Given the description of an element on the screen output the (x, y) to click on. 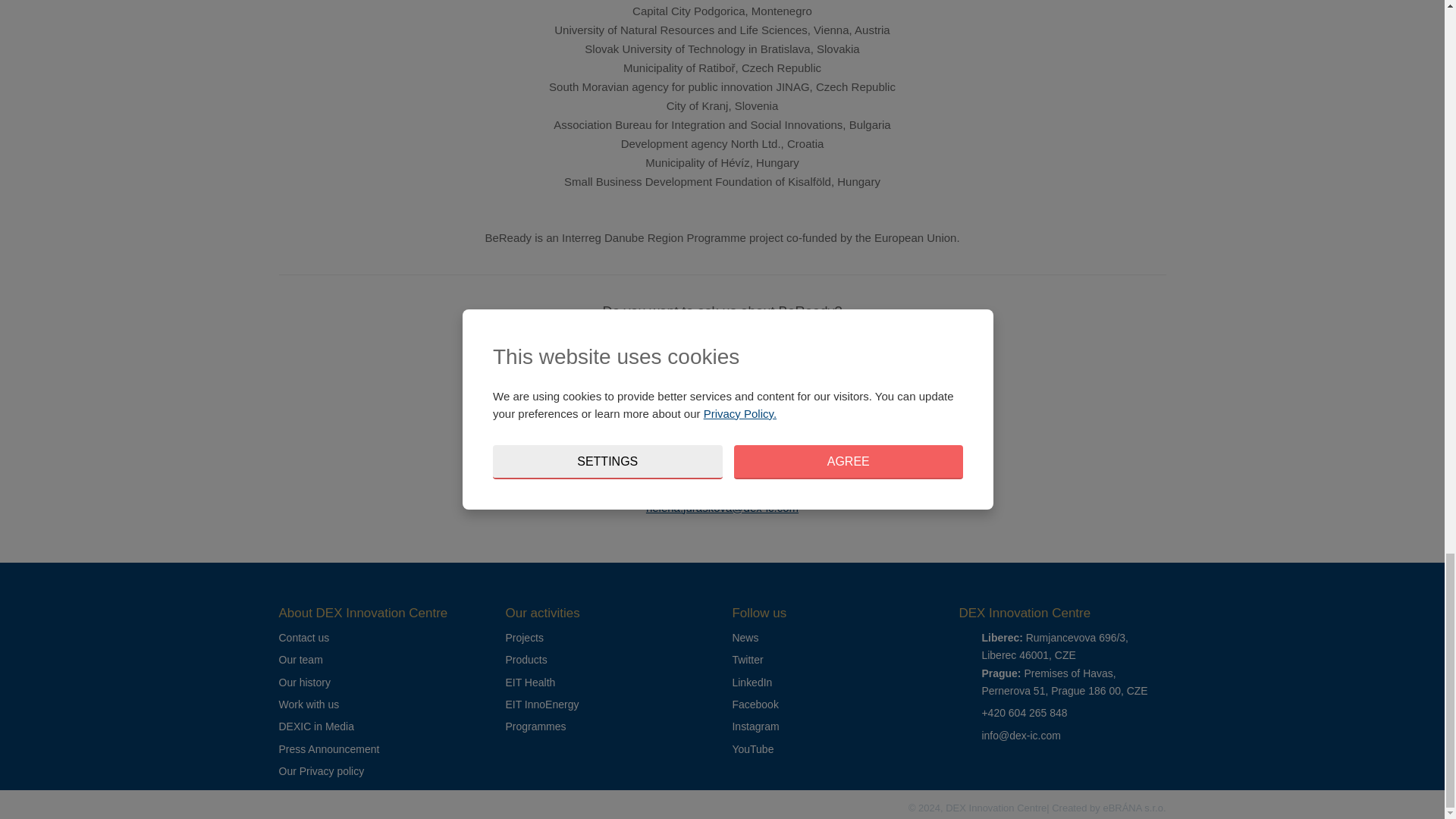
Twitter (747, 659)
DEXIC in Media (316, 726)
News (745, 637)
EIT Health (529, 682)
Press Announcement (329, 748)
EIT InnoEnergy (541, 704)
Products (526, 659)
Our history (304, 682)
Our team (301, 659)
Facebook (754, 704)
